Given the description of an element on the screen output the (x, y) to click on. 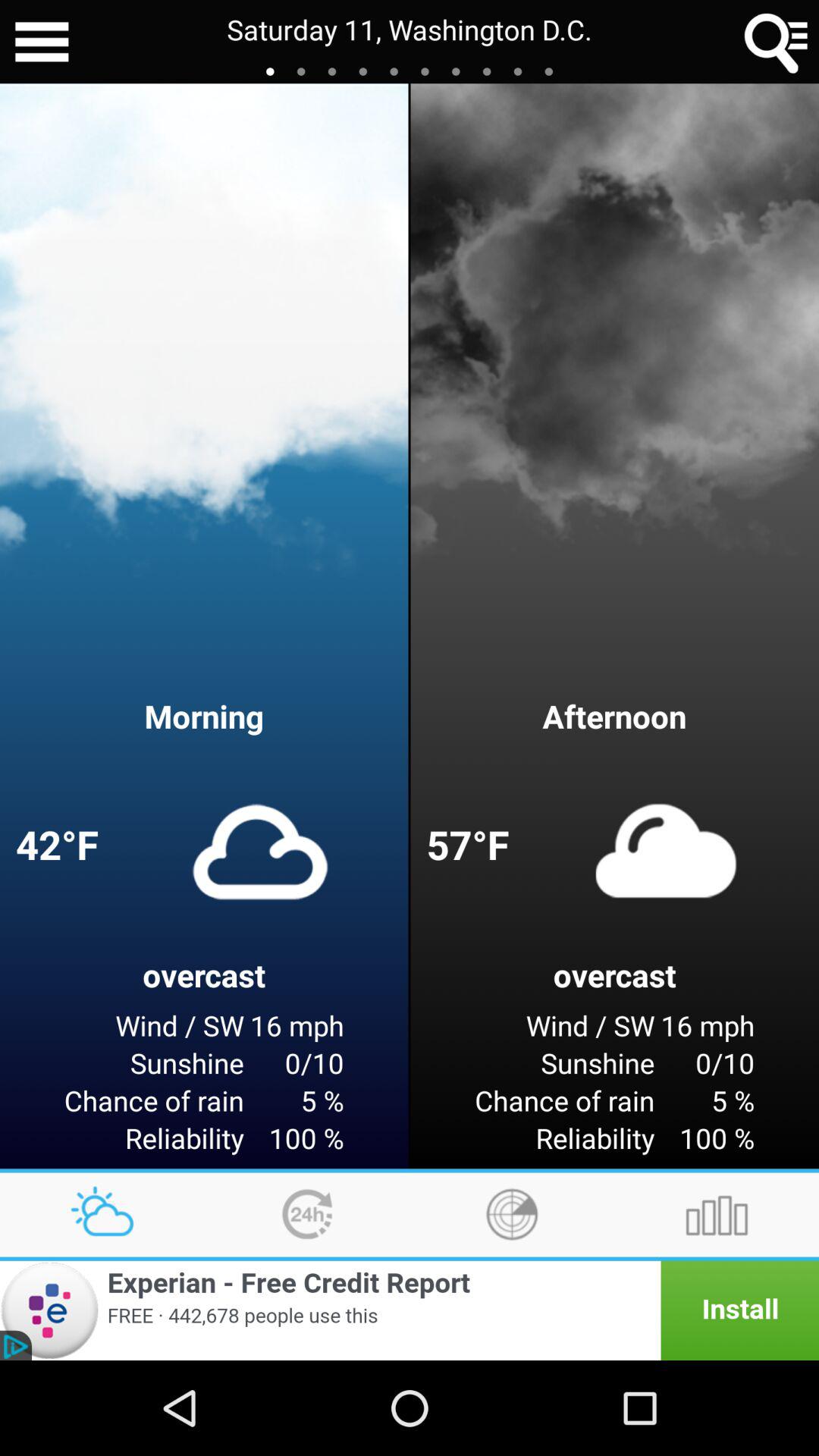
launch item next to saturday 11 washington (777, 41)
